Given the description of an element on the screen output the (x, y) to click on. 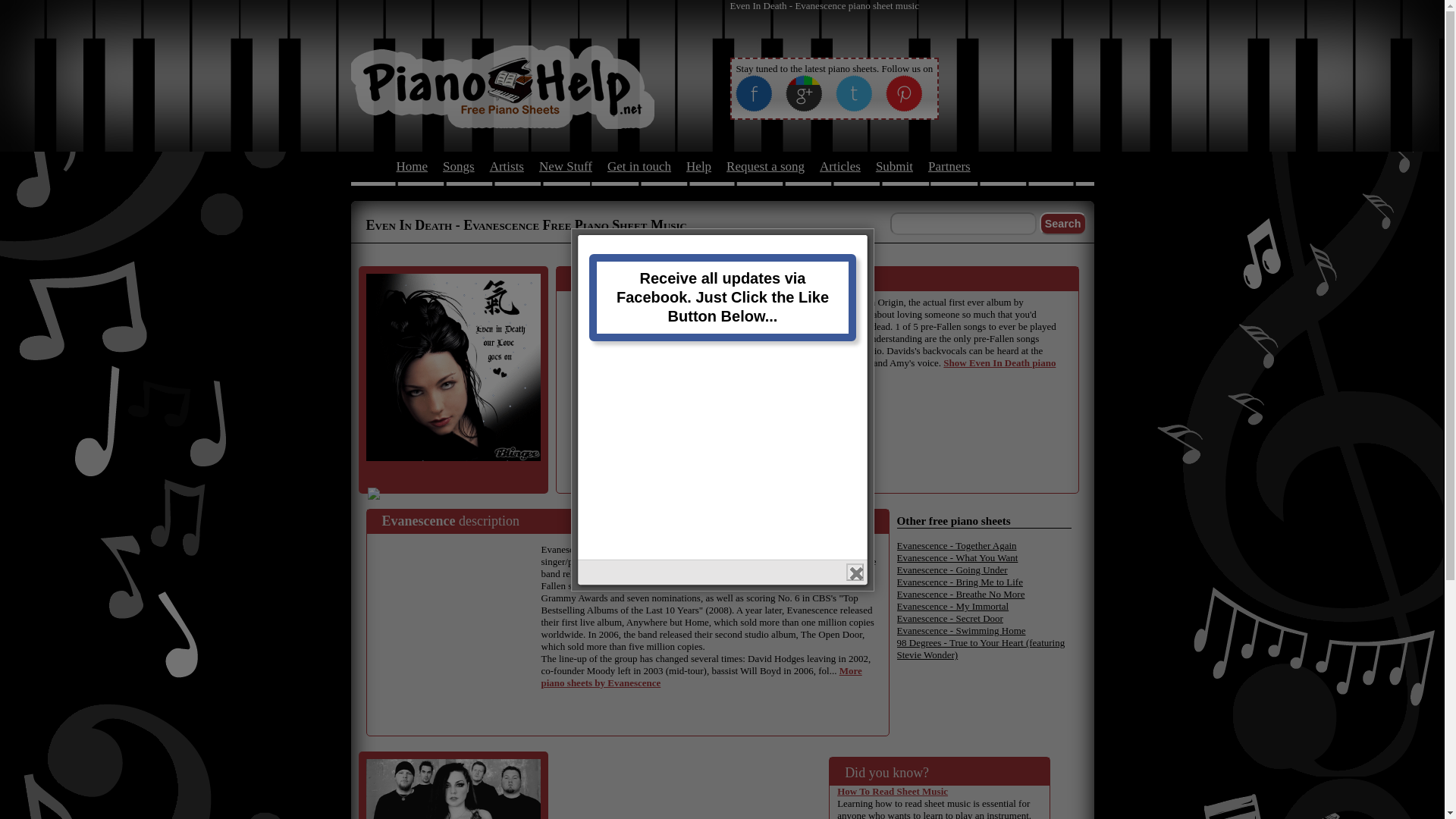
Piano sheets by Evanescence (701, 676)
Search (1062, 223)
Submit a piano sheet (894, 165)
Artists (506, 165)
Advertisement (663, 391)
Help (698, 165)
Partners (949, 165)
Bring Me to Life free piano sheet (959, 582)
Evanescence - Breathe No More (960, 593)
Evanescence - Going Under (951, 569)
More piano sheets by Evanescence (701, 676)
Search (1062, 223)
How To Read Sheet Music (892, 790)
Advertisement (457, 616)
New piano sheets (565, 165)
